Given the description of an element on the screen output the (x, y) to click on. 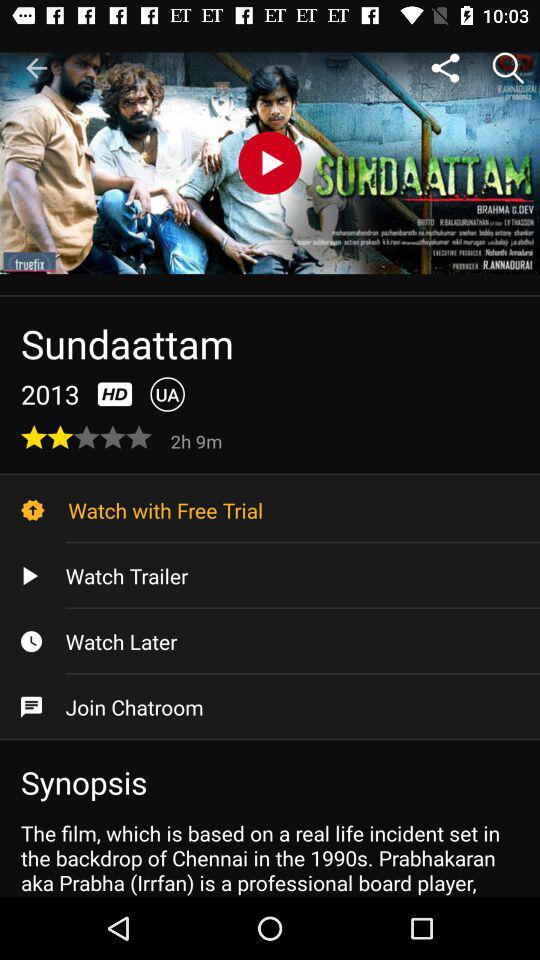
flip to the watch with free (270, 510)
